Given the description of an element on the screen output the (x, y) to click on. 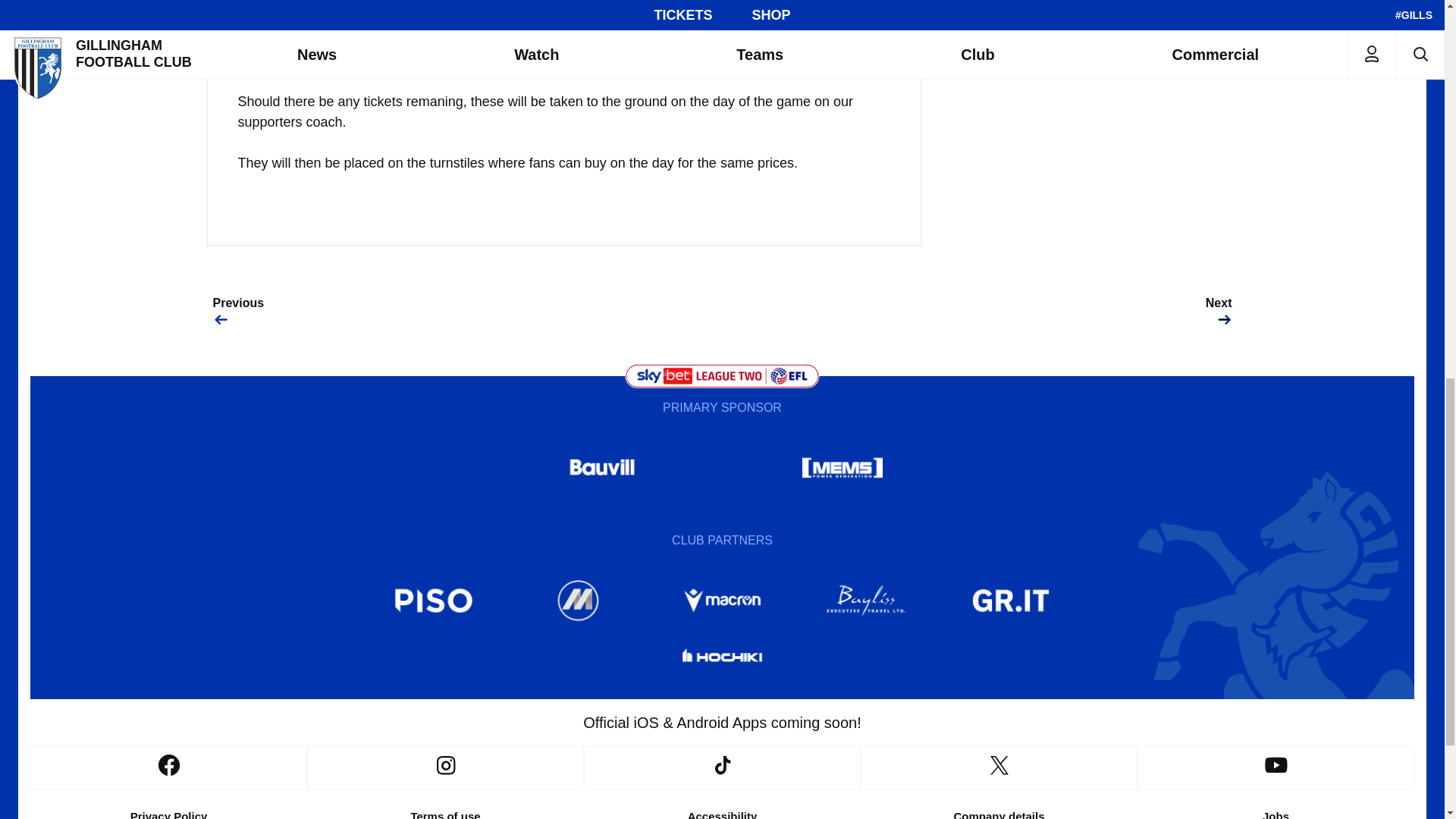
MEMS Power Generation (841, 467)
Macron (720, 600)
PISO (433, 600)
Bayliss (866, 600)
Hochiki (720, 657)
GRIT (1010, 600)
Bauvill (601, 467)
Magnus Search Recruitment (577, 600)
